Given the description of an element on the screen output the (x, y) to click on. 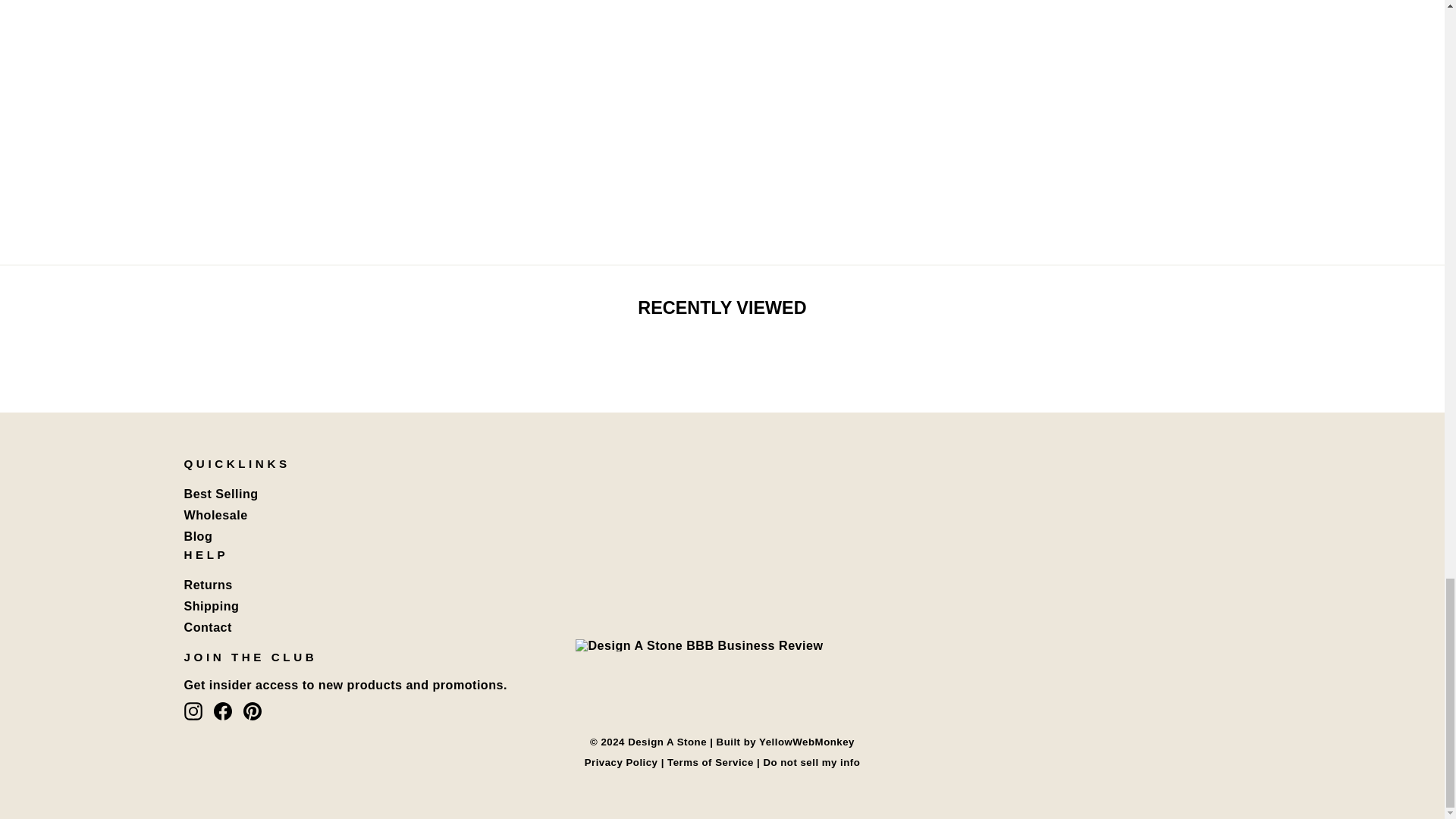
Design A Stone on Instagram (192, 710)
Design A Stone on Facebook (222, 710)
Design A Stone on Pinterest (251, 710)
